Given the description of an element on the screen output the (x, y) to click on. 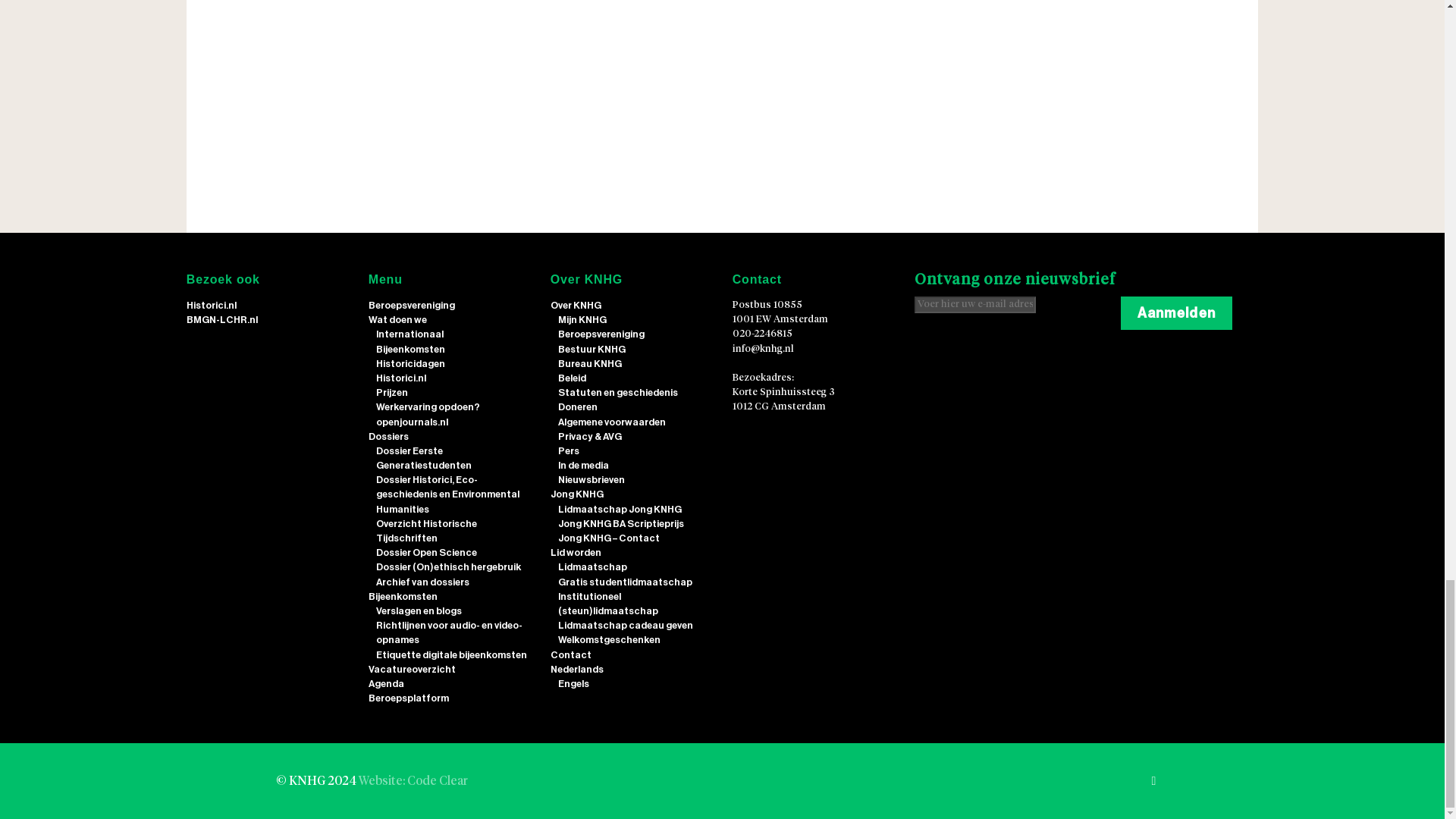
Engels (573, 683)
Aanmelden (1176, 313)
Nederlands (577, 668)
